Given the description of an element on the screen output the (x, y) to click on. 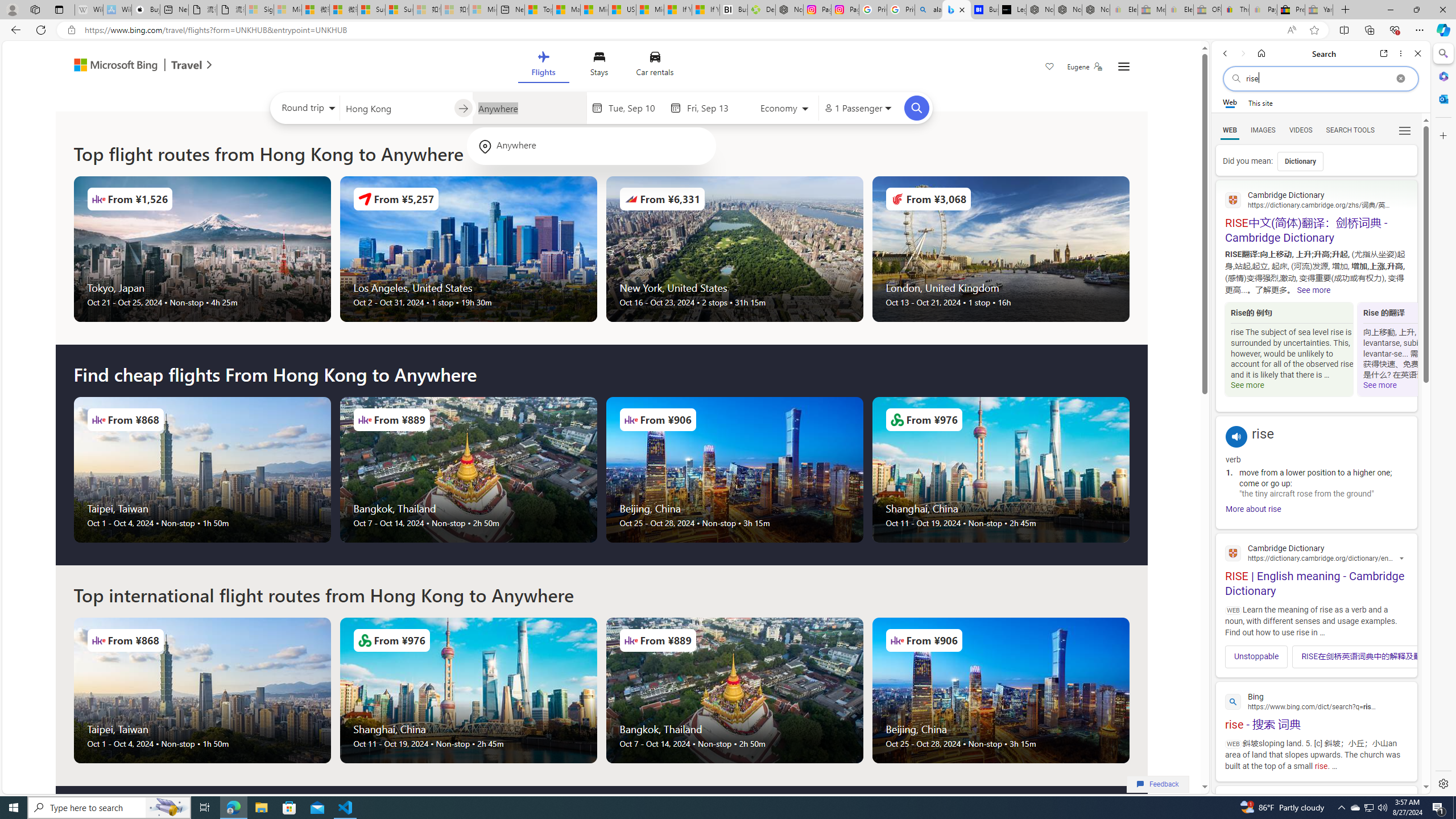
End date (713, 107)
Airlines Logo (896, 640)
US Heat Deaths Soared To Record High Last Year (621, 9)
Class: msft-travel-logo (186, 64)
Select trip type (305, 110)
